Given the description of an element on the screen output the (x, y) to click on. 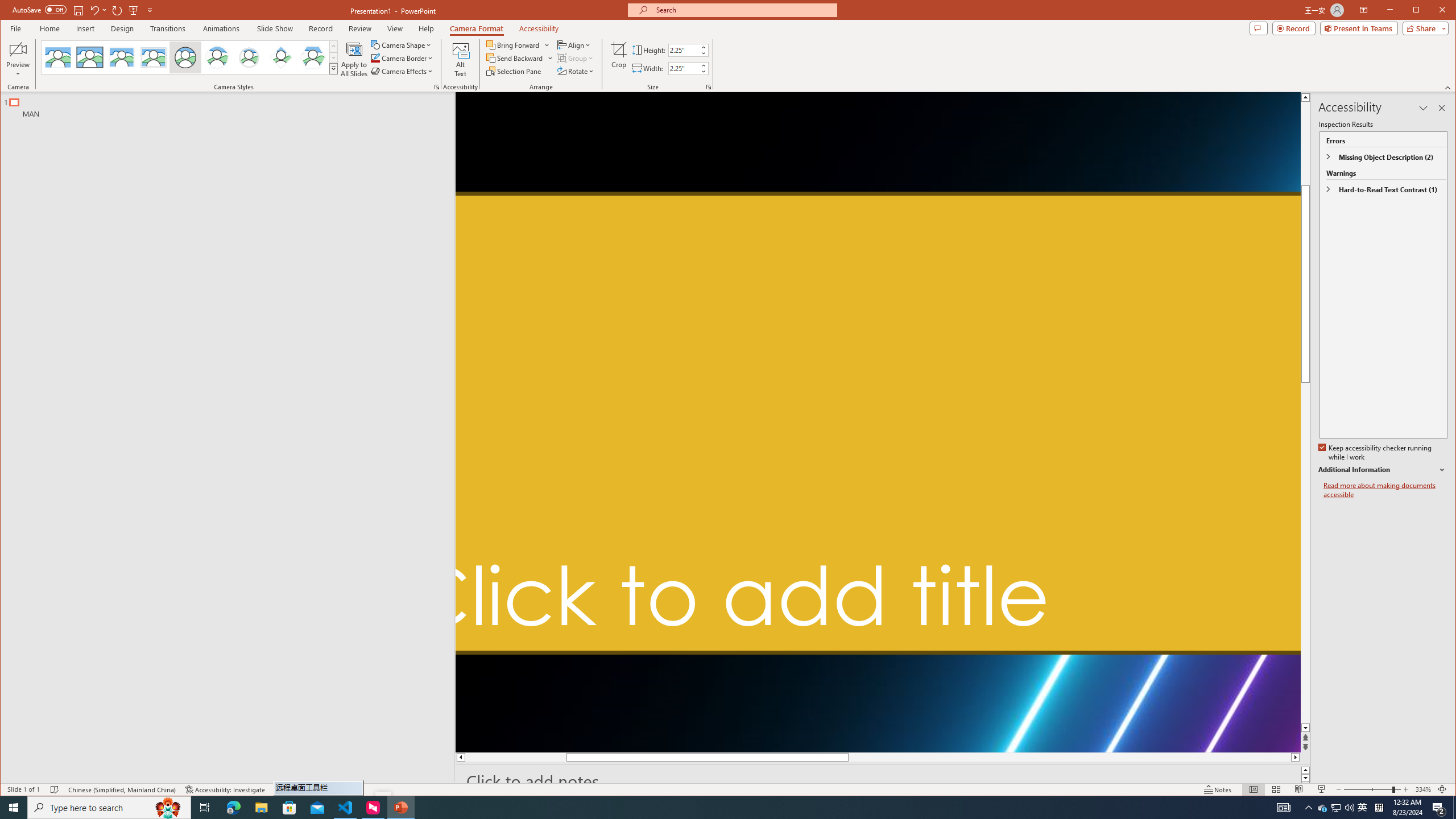
Simple Frame Circle (184, 57)
Center Shadow Circle (216, 57)
Soft Edge Circle (248, 57)
